Given the description of an element on the screen output the (x, y) to click on. 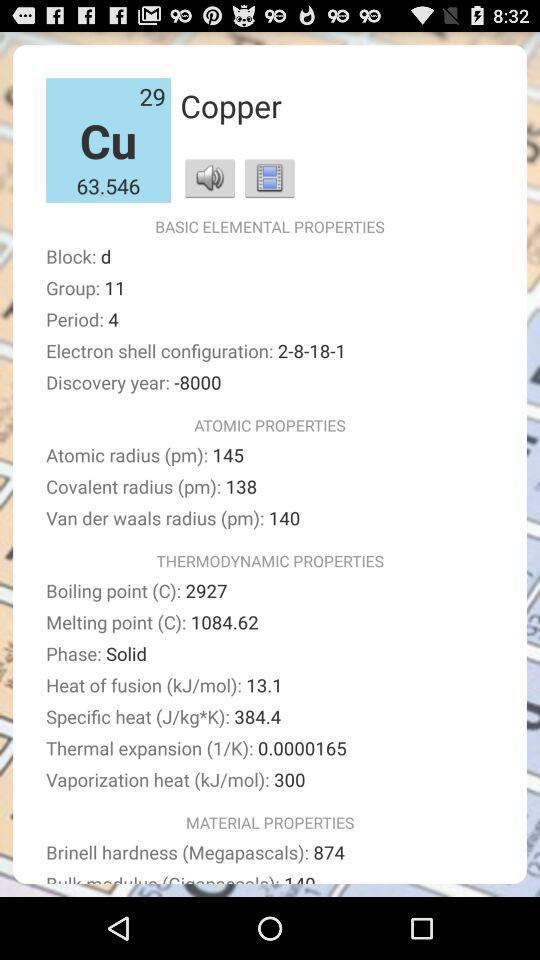
volume symbol (210, 177)
